Given the description of an element on the screen output the (x, y) to click on. 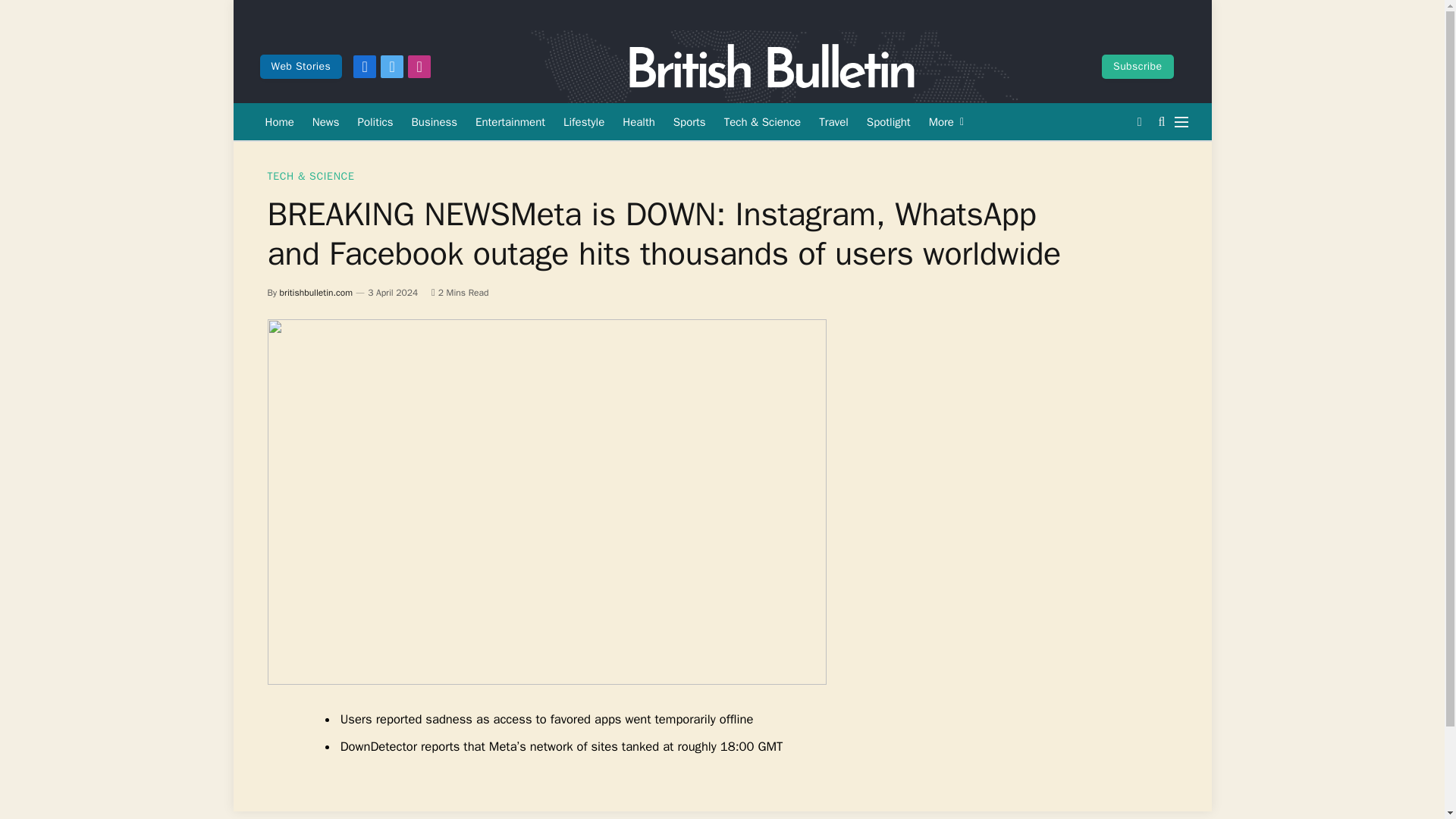
Politics (376, 121)
British Bulletin (771, 66)
Subscribe (1137, 66)
Home (279, 121)
Entertainment (509, 121)
Facebook (364, 66)
Lifestyle (583, 121)
Instagram (418, 66)
Posts by britishbulletin.com (316, 292)
Switch to Dark Design - easier on eyes. (1139, 121)
